Given the description of an element on the screen output the (x, y) to click on. 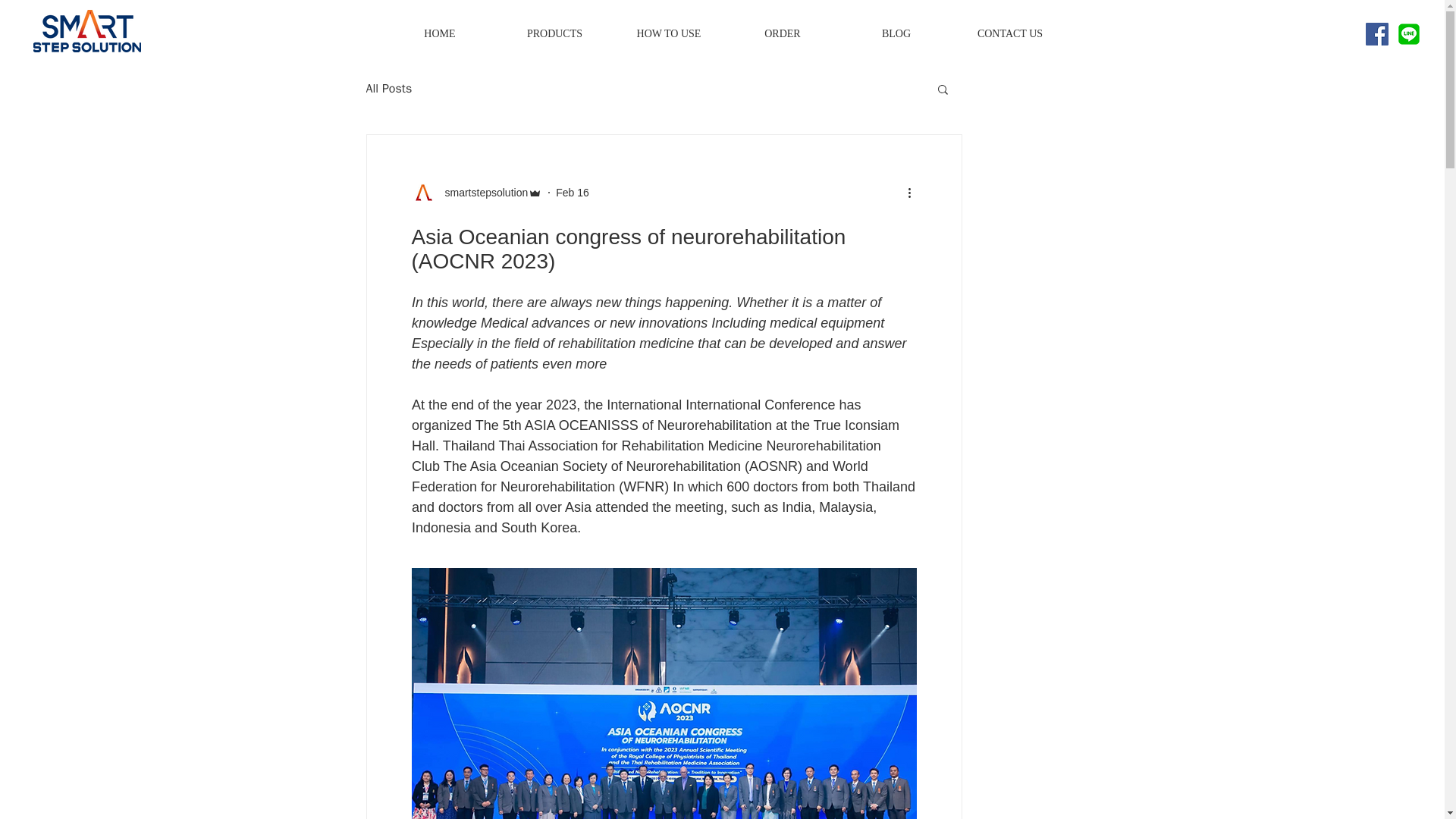
smartstepsolution (481, 192)
BLOG (895, 34)
PRODUCTS (553, 34)
All Posts (388, 88)
HOME (438, 34)
HOW TO USE (668, 34)
ORDER (781, 34)
smartstepsolution (475, 192)
Feb 16 (572, 192)
CONTACT US (1008, 34)
